Given the description of an element on the screen output the (x, y) to click on. 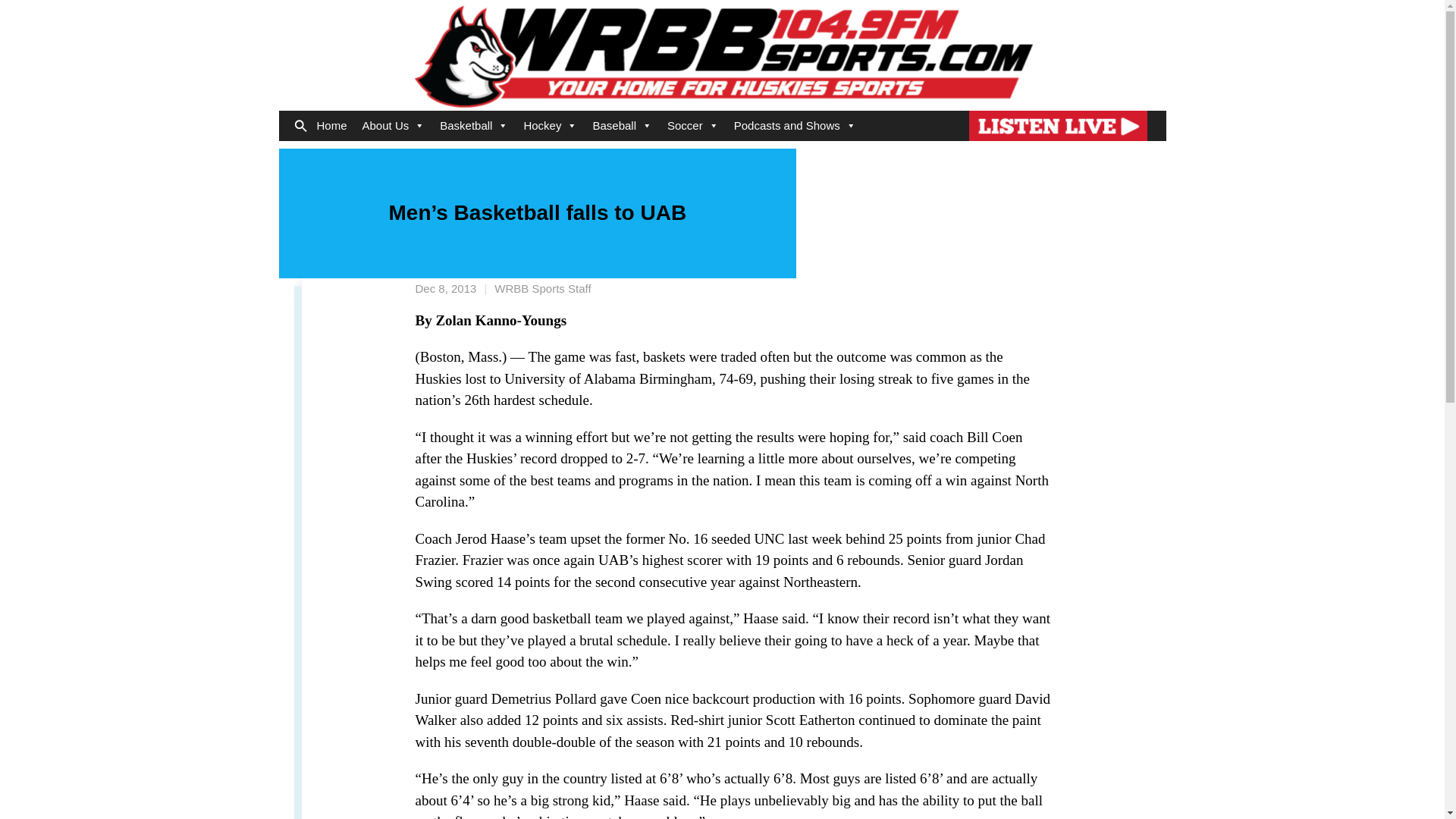
Basketball (473, 125)
About Us (393, 125)
Baseball (622, 125)
Home (331, 125)
Podcasts and Shows (794, 125)
View all posts by WRBB Sports Staff (543, 287)
Soccer (692, 125)
Hockey (550, 125)
